Given the description of an element on the screen output the (x, y) to click on. 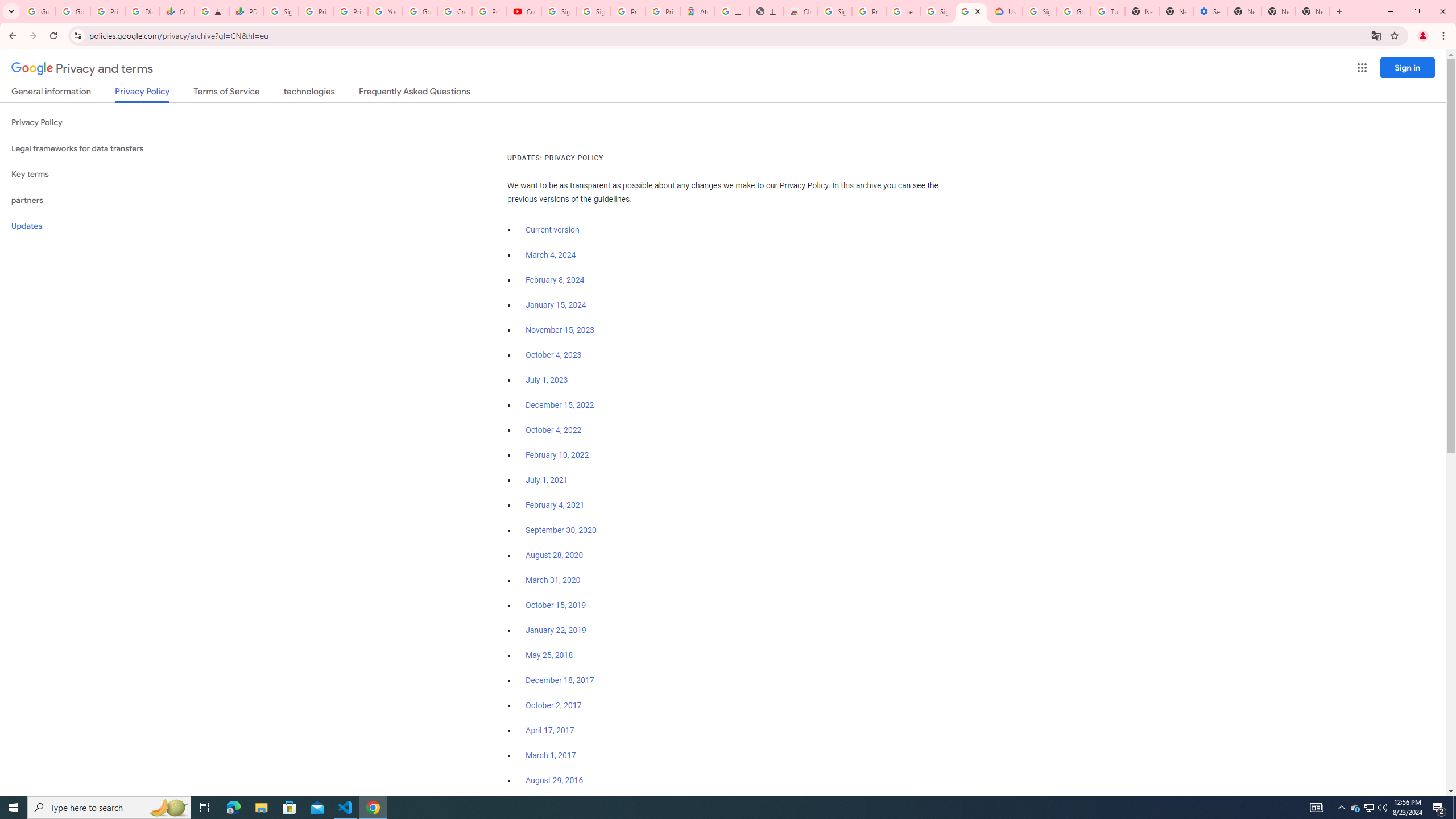
Currencies - Google Finance (176, 11)
Translate this page (1376, 35)
April 17, 2017 (550, 729)
January 15, 2024 (555, 305)
Google Account Help (1073, 11)
New Tab (1312, 11)
Sign in - Google Accounts (281, 11)
YouTube (384, 11)
July 1, 2021 (546, 480)
